Given the description of an element on the screen output the (x, y) to click on. 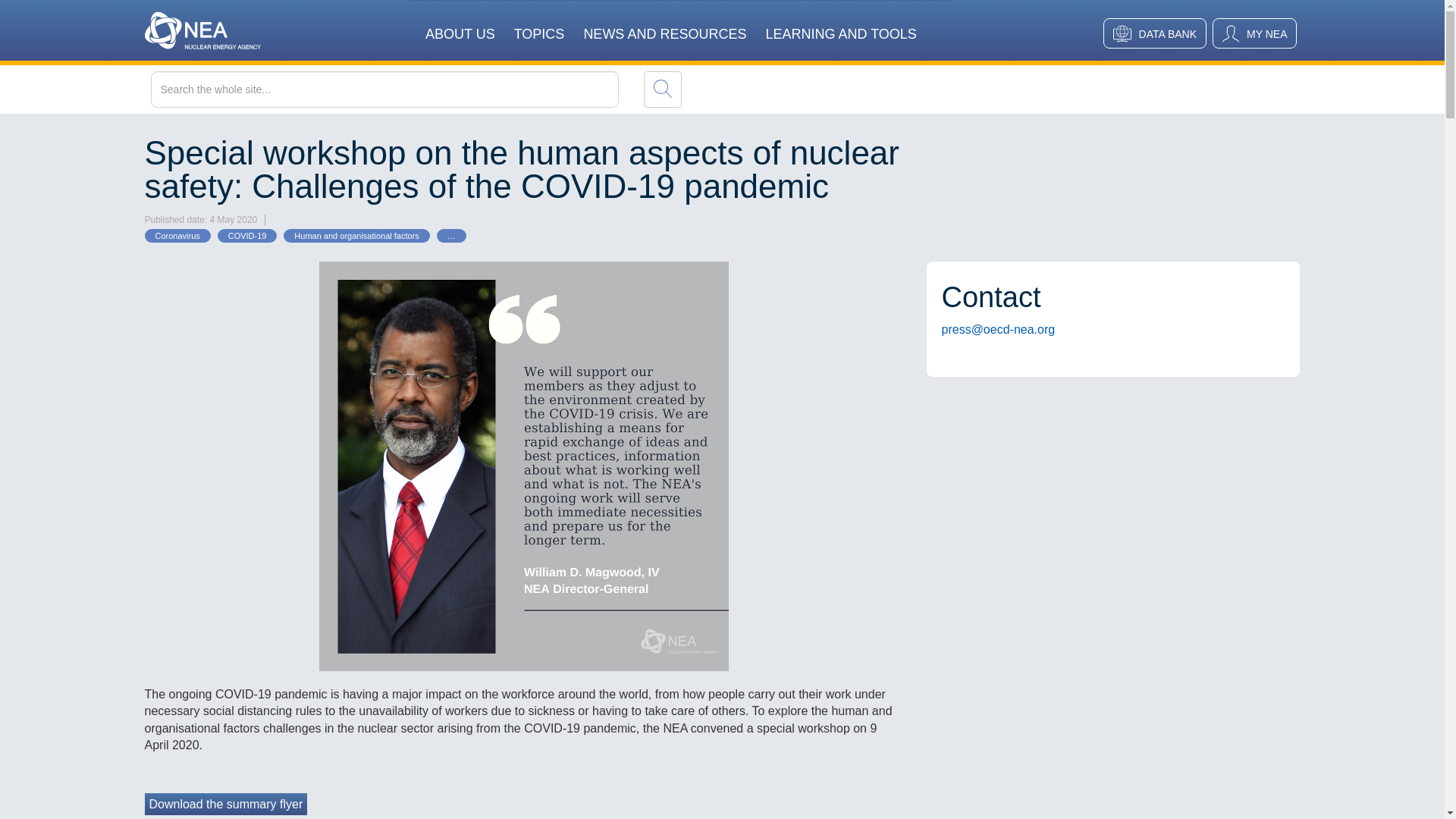
Search (662, 89)
LEARNING AND TOOLS (840, 23)
MY NEA (1254, 33)
DATA BANK (1155, 33)
Coronavirus (176, 235)
Show all categories... (450, 235)
true (662, 89)
COVID-19 (247, 235)
Search the whole site... (415, 89)
TOPICS (538, 23)
Human and organisational factors (356, 235)
NEWS AND RESOURCES (664, 23)
ABOUT US (460, 23)
